Given the description of an element on the screen output the (x, y) to click on. 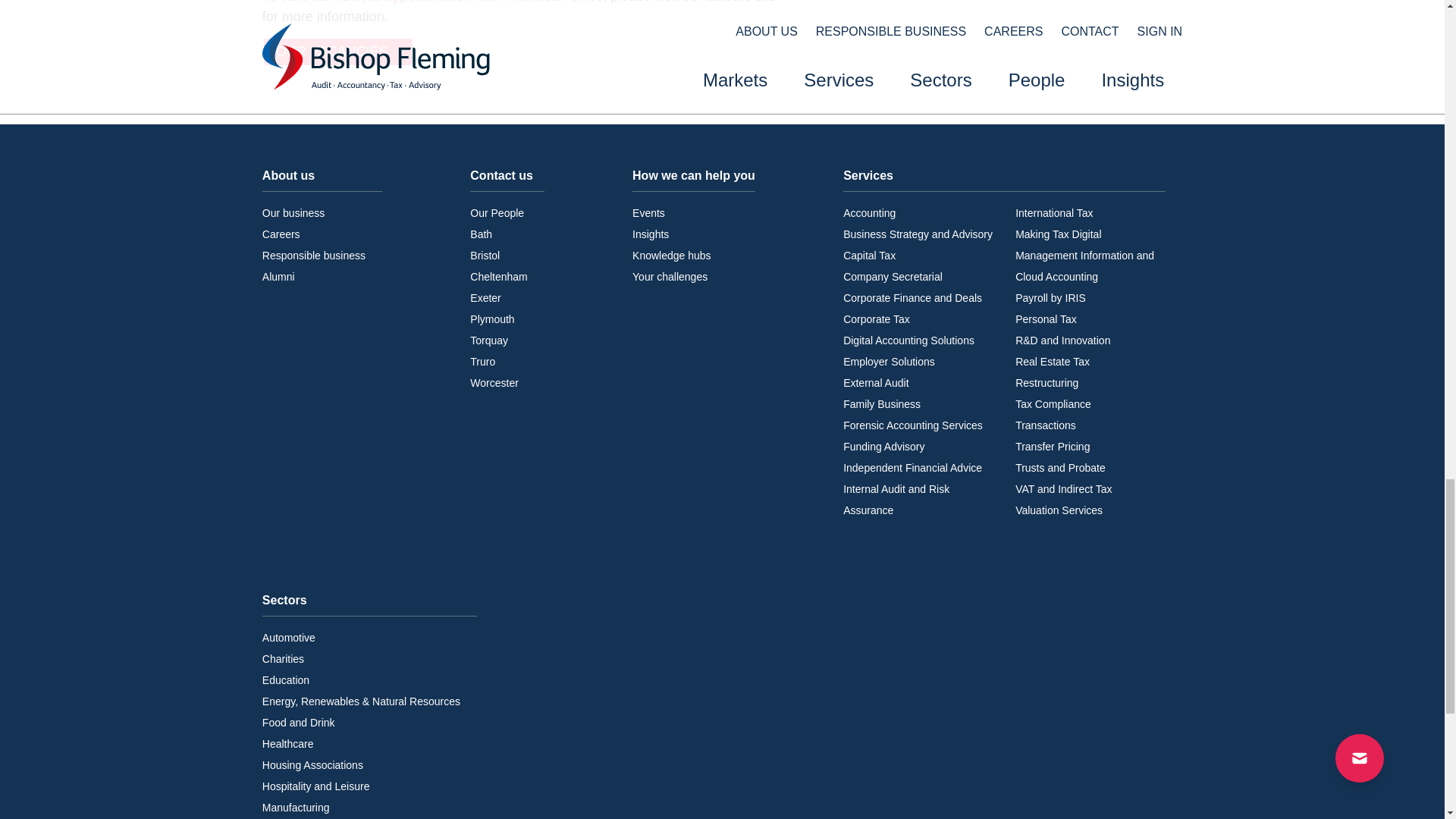
Housing Associations (312, 765)
